Given the description of an element on the screen output the (x, y) to click on. 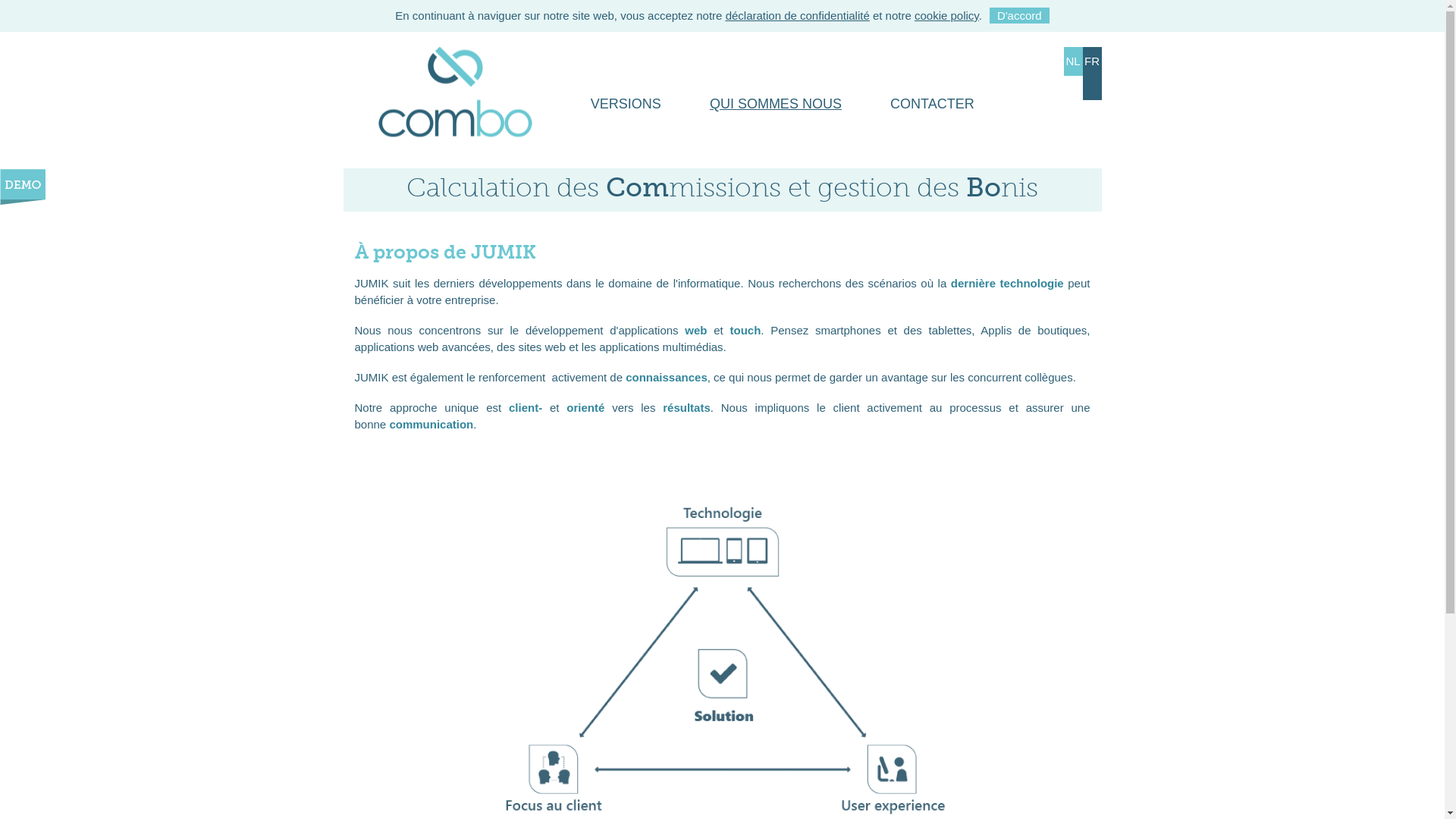
D'accord Element type: text (1019, 15)
QUI SOMMES NOUS Element type: text (775, 103)
NL Element type: text (1072, 61)
ACCUEIL Element type: text (453, 103)
cookie policy Element type: text (946, 15)
VERSIONS Element type: text (625, 103)
CONTACTER Element type: text (932, 103)
FR Element type: text (1091, 73)
